Given the description of an element on the screen output the (x, y) to click on. 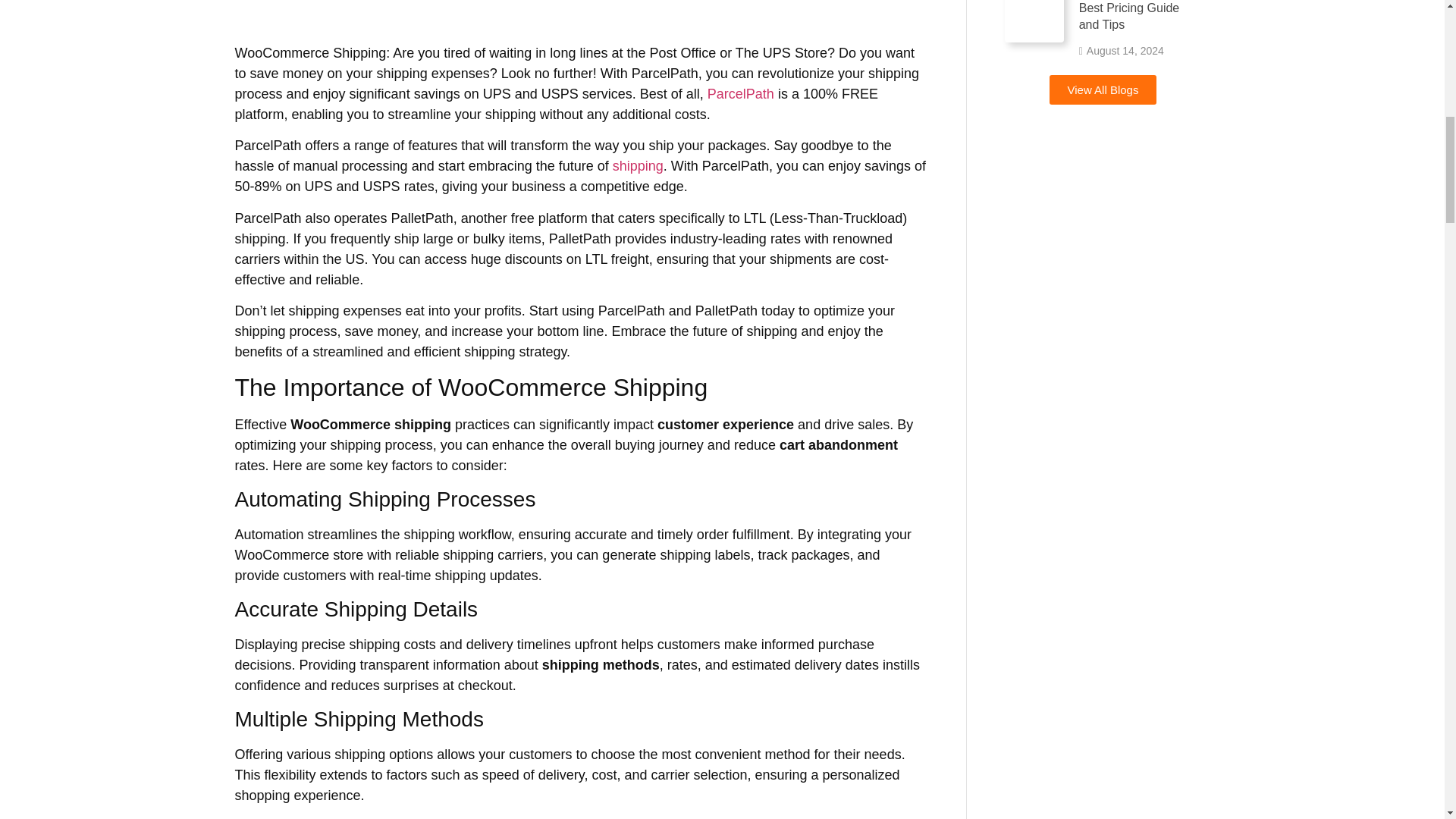
shipping (637, 165)
shipping (637, 165)
ParcelPath (740, 93)
ParcelPath (740, 93)
